Given the description of an element on the screen output the (x, y) to click on. 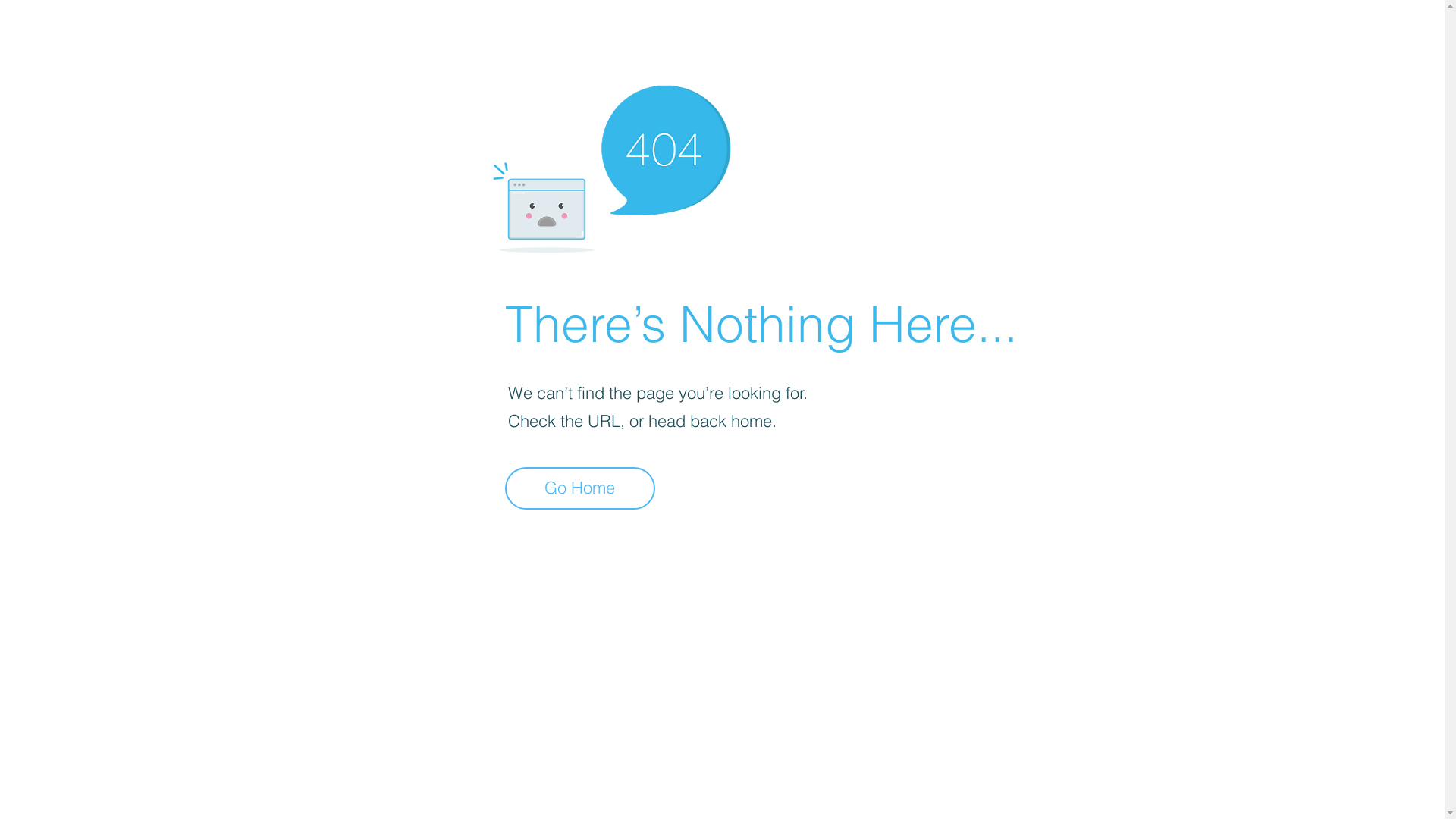
404-icon_2.png Element type: hover (610, 164)
Go Home Element type: text (580, 488)
